Given the description of an element on the screen output the (x, y) to click on. 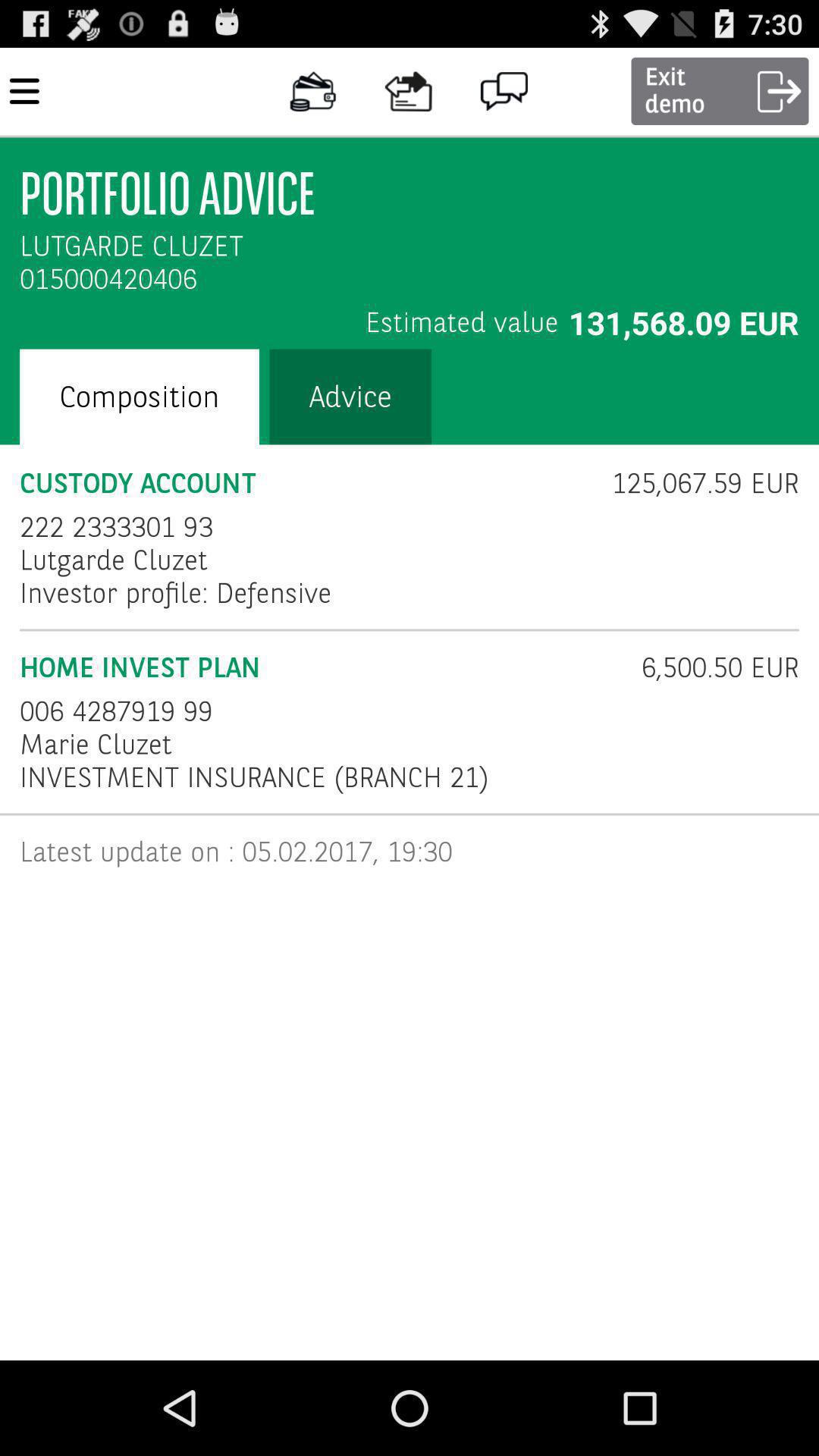
turn on the checkbox to the left of 6 500 50 checkbox (116, 711)
